Given the description of an element on the screen output the (x, y) to click on. 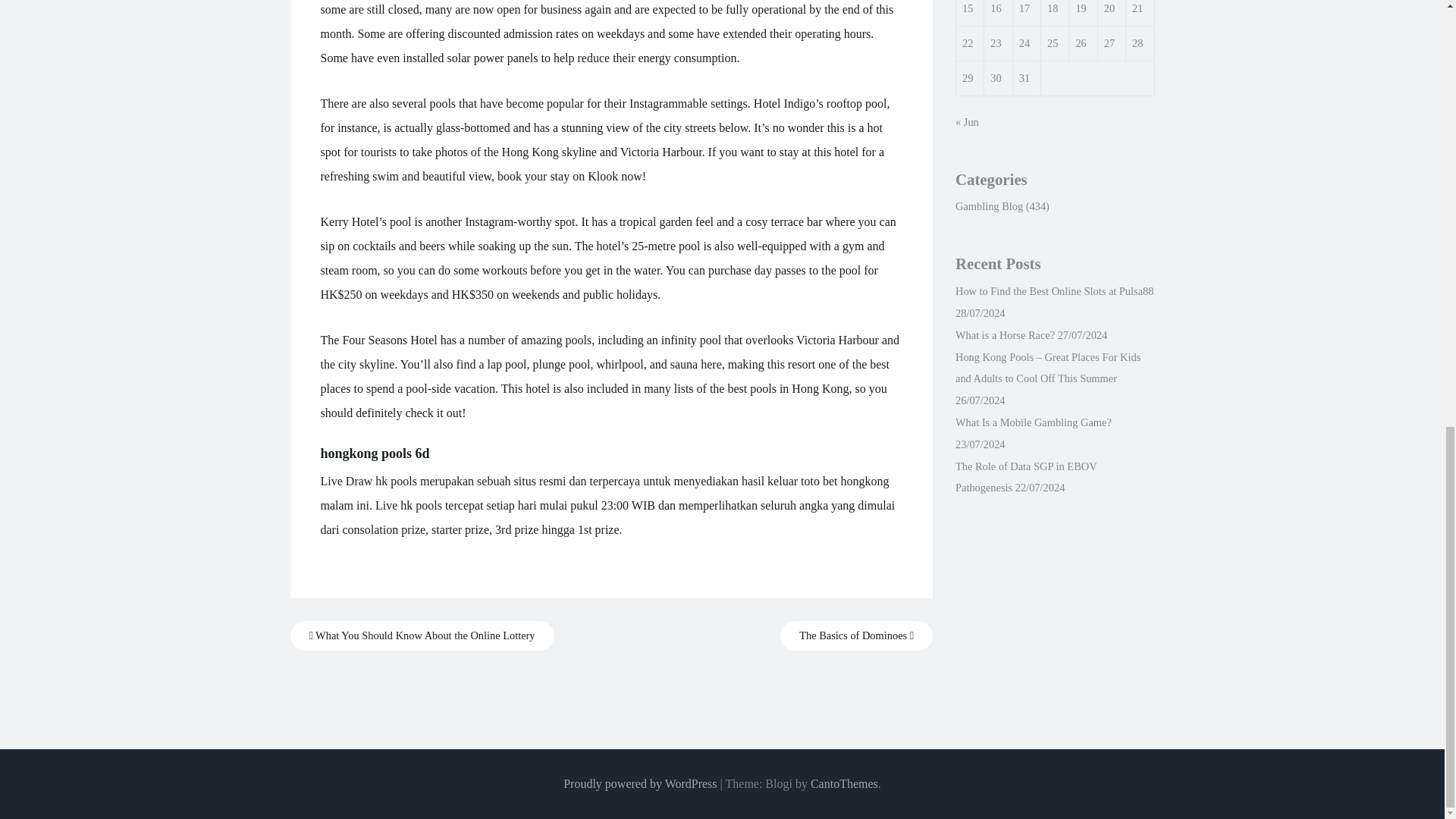
19 (1080, 8)
What You Should Know About the Online Lottery (421, 635)
The Basics of Dominoes (856, 635)
20 (1109, 8)
15 (967, 8)
